Given the description of an element on the screen output the (x, y) to click on. 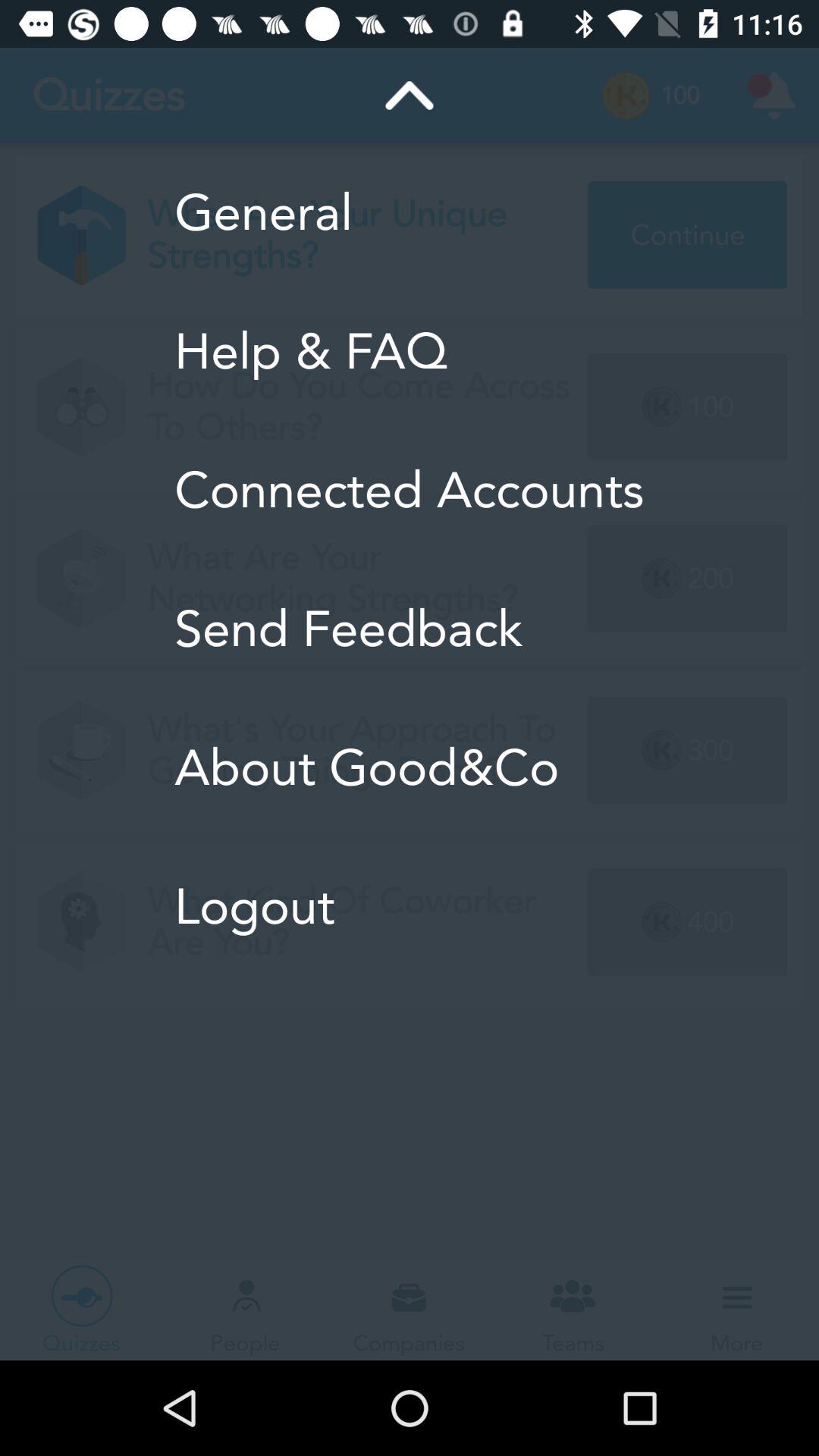
turn on item below about good&co (408, 906)
